Given the description of an element on the screen output the (x, y) to click on. 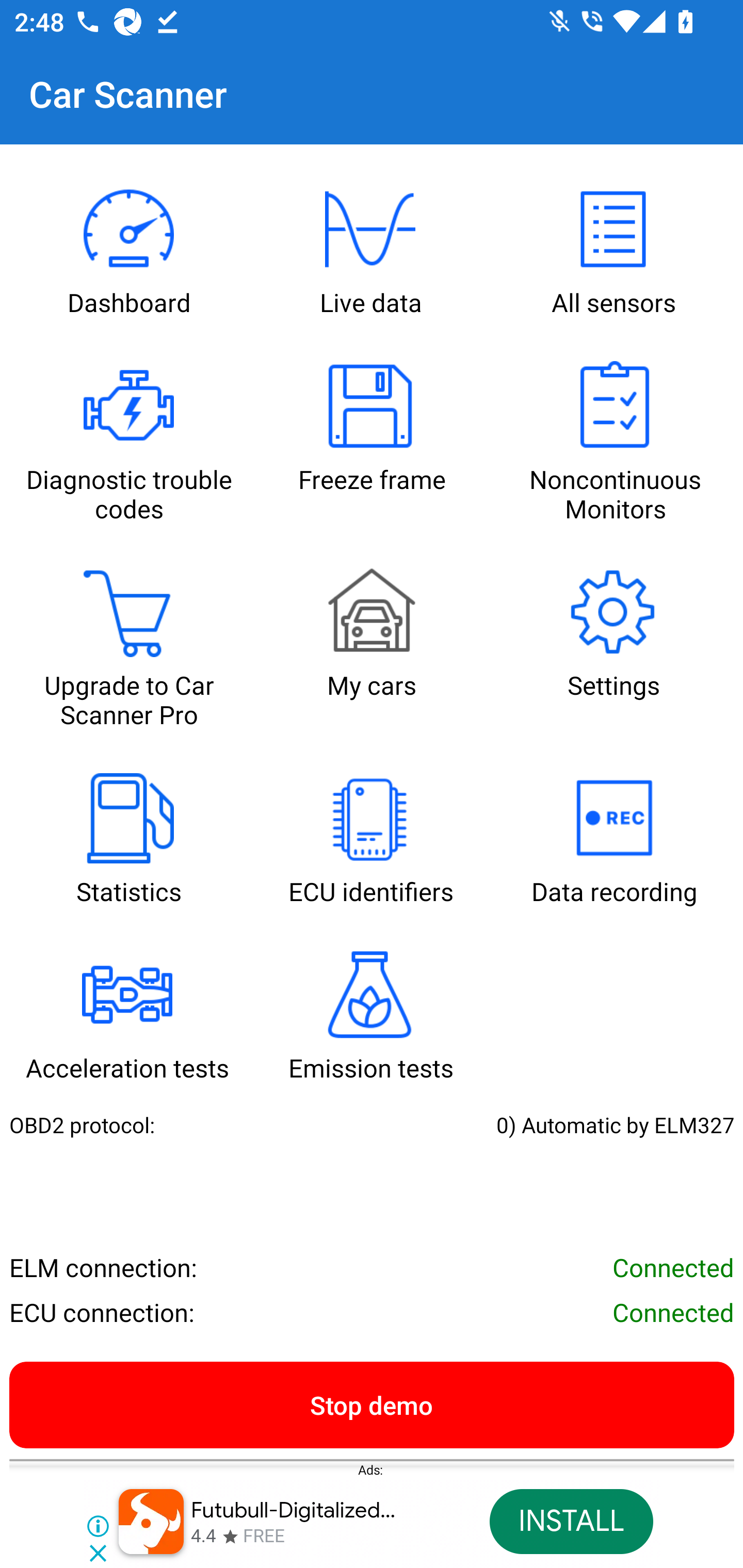
Stop demo (371, 1404)
INSTALL (570, 1521)
Futubull-Digitalized… (293, 1510)
4.4 (203, 1537)
FREE (263, 1537)
